Given the description of an element on the screen output the (x, y) to click on. 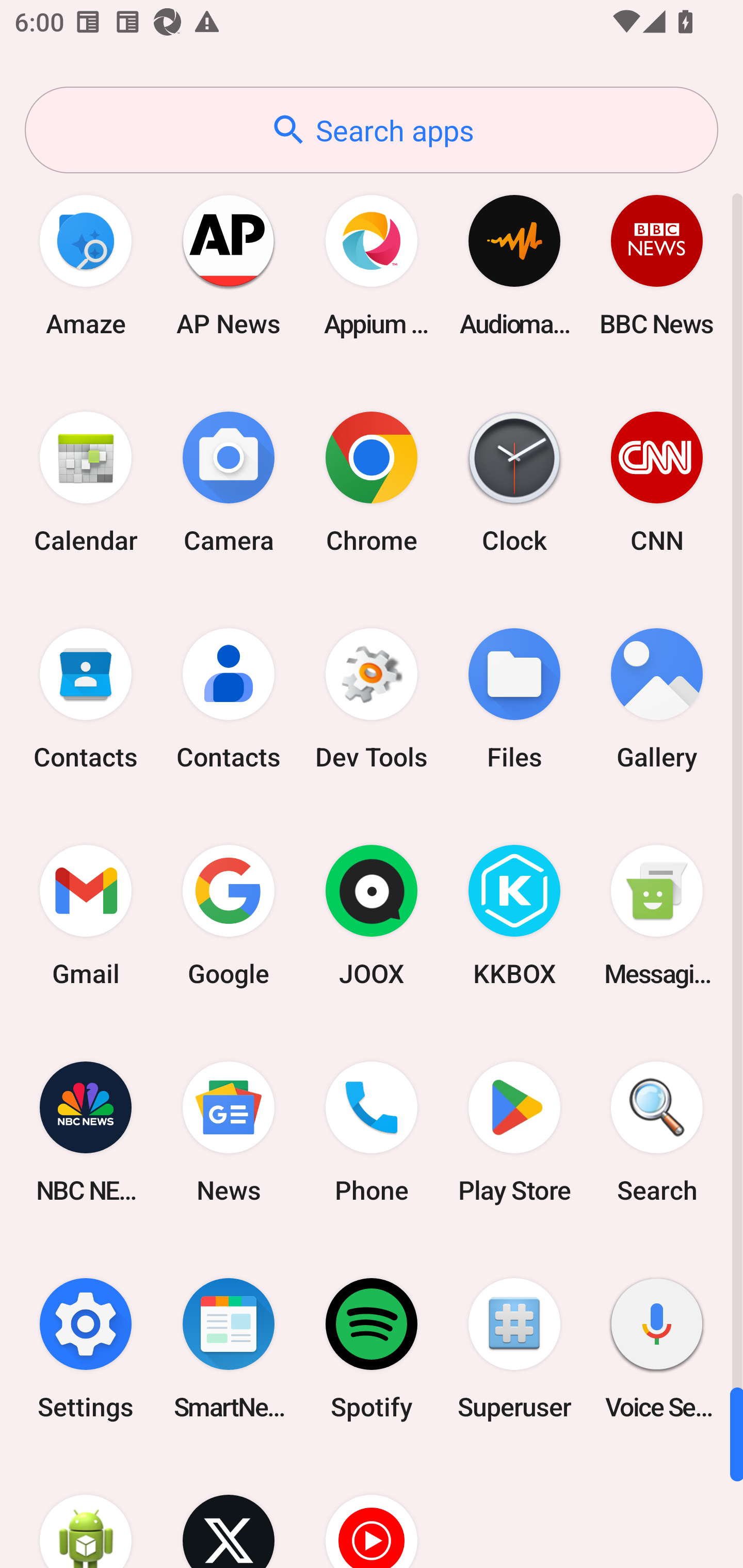
  Search apps (371, 130)
Amaze (85, 264)
AP News (228, 264)
Appium Settings (371, 264)
Audio­mack (514, 264)
BBC News (656, 264)
Calendar (85, 482)
Camera (228, 482)
Chrome (371, 482)
Clock (514, 482)
CNN (656, 482)
Contacts (85, 699)
Contacts (228, 699)
Dev Tools (371, 699)
Files (514, 699)
Gallery (656, 699)
Gmail (85, 915)
Google (228, 915)
JOOX (371, 915)
KKBOX (514, 915)
Messaging (656, 915)
NBC NEWS (85, 1131)
News (228, 1131)
Phone (371, 1131)
Play Store (514, 1131)
Search (656, 1131)
Settings (85, 1348)
SmartNews (228, 1348)
Spotify (371, 1348)
Superuser (514, 1348)
Voice Search (656, 1348)
WebView Browser Tester (85, 1512)
X (228, 1512)
YT Music (371, 1512)
